Given the description of an element on the screen output the (x, y) to click on. 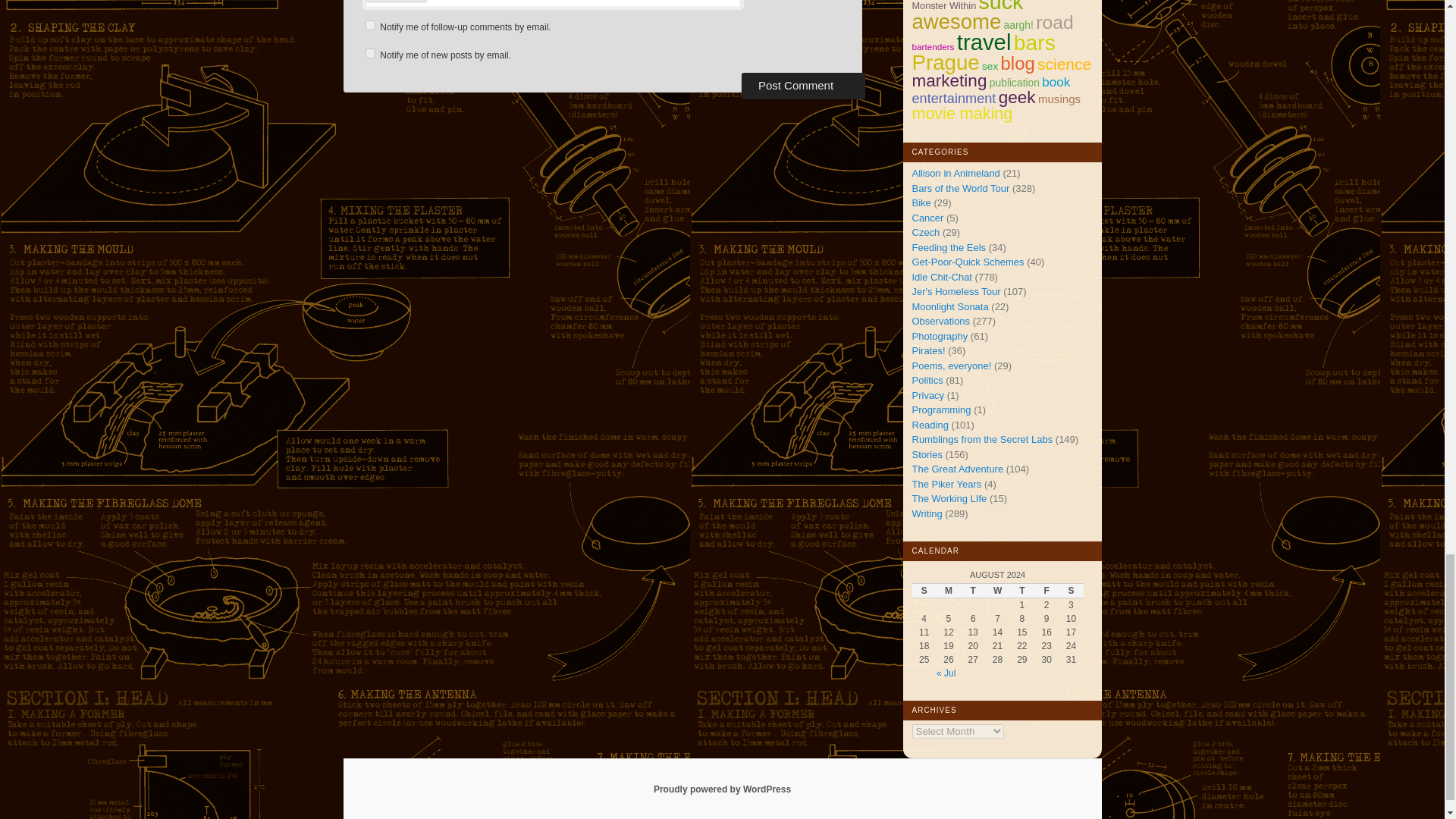
subscribe (370, 76)
Post Comment (802, 109)
subscribe (370, 49)
Post Comment (802, 109)
